Given the description of an element on the screen output the (x, y) to click on. 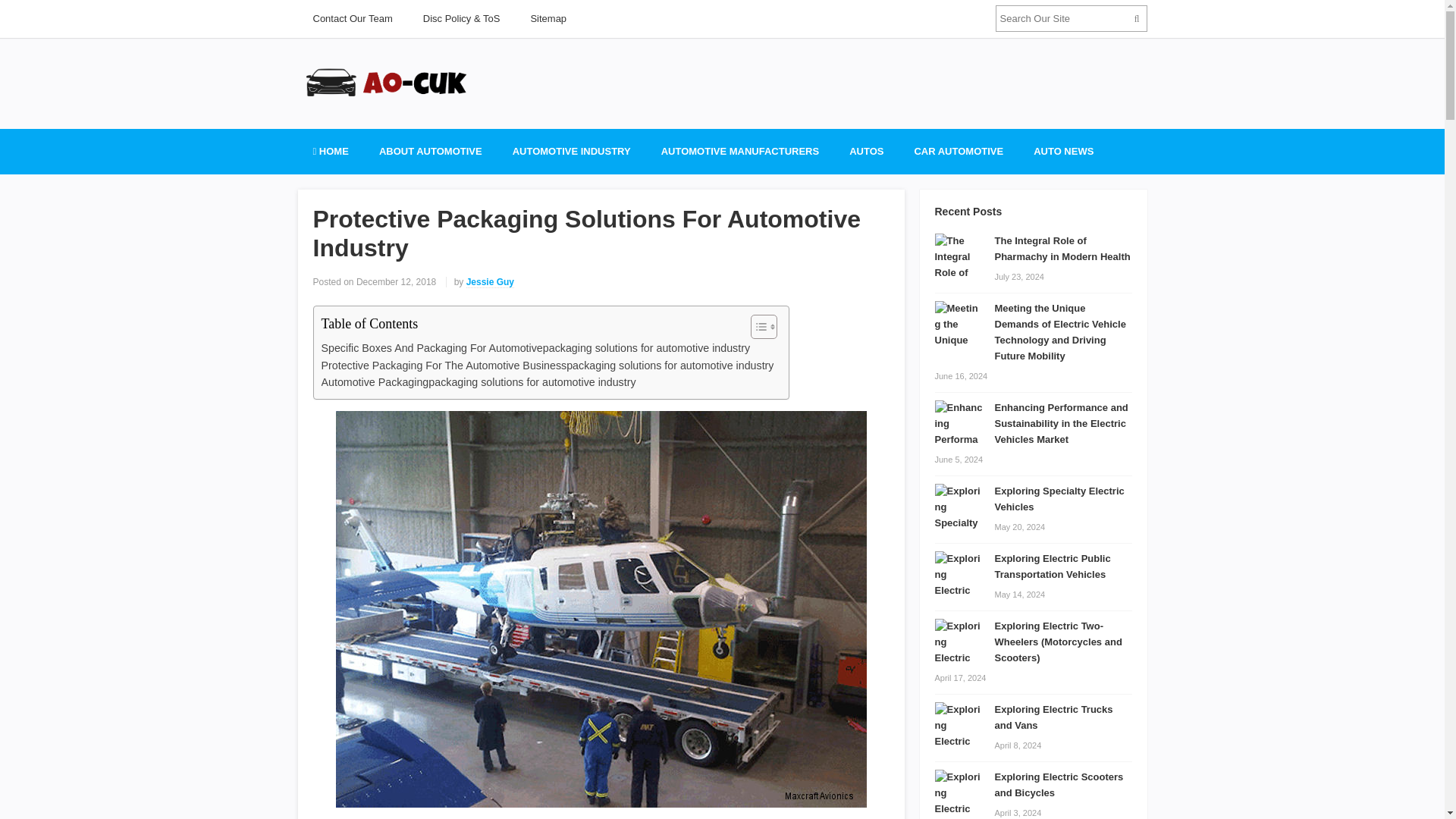
Jessie Guy (489, 282)
AUTO NEWS (1062, 151)
Sitemap (547, 18)
AUTOMOTIVE INDUSTRY (571, 151)
CAR AUTOMOTIVE (957, 151)
AUTOS (866, 151)
Contact Our Team (352, 18)
HOME (329, 151)
AUTOMOTIVE MANUFACTURERS (740, 151)
